Given the description of an element on the screen output the (x, y) to click on. 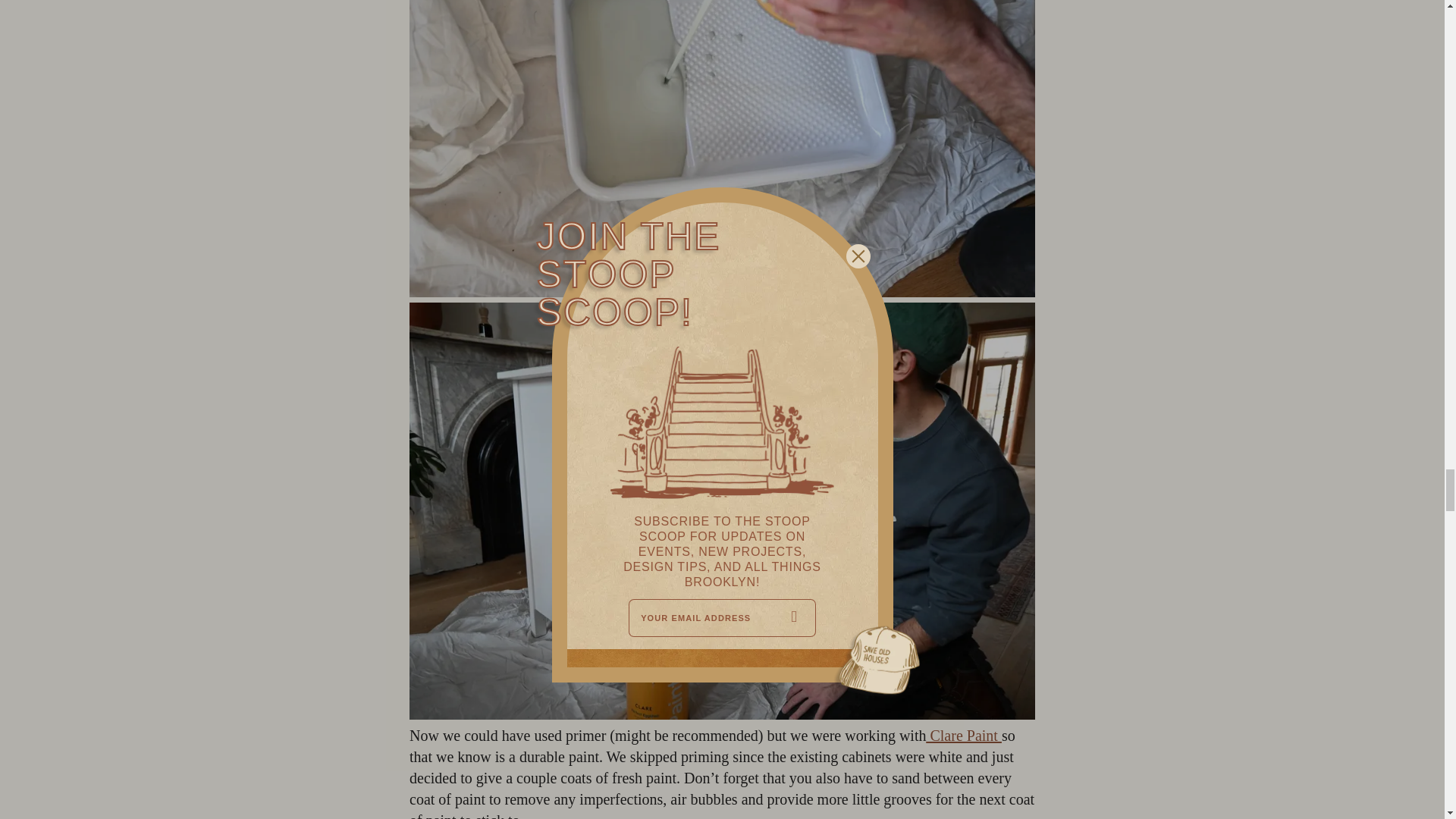
Clare Paint (963, 735)
